Given the description of an element on the screen output the (x, y) to click on. 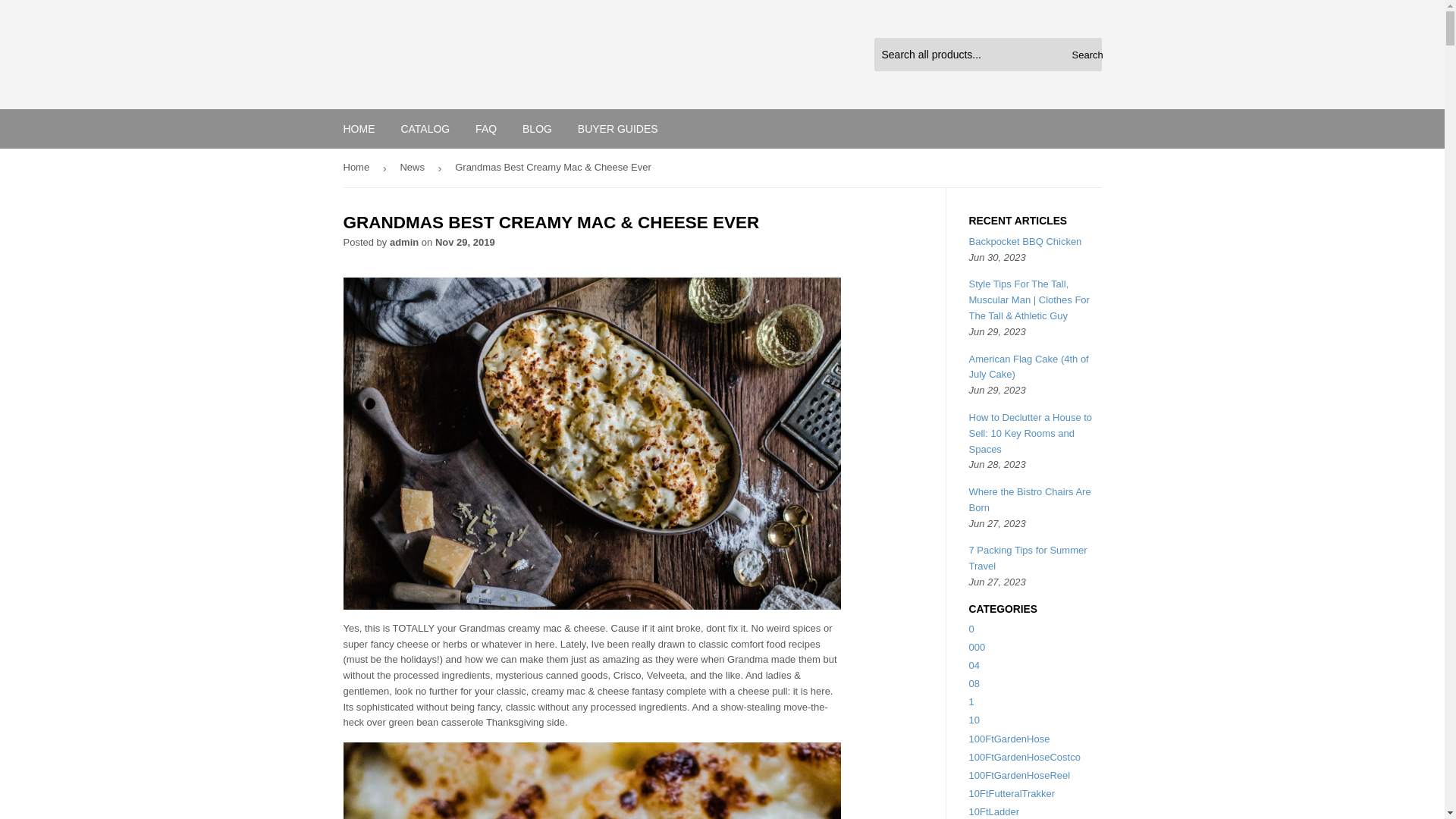
100FtGardenHoseCostco (1024, 756)
BLOG (537, 128)
How to Declutter a House to Sell: 10 Key Rooms and Spaces (1031, 433)
7 Packing Tips for Summer Travel (1028, 557)
Show articles tagged 08 (974, 683)
Show articles tagged 000 (977, 646)
000 (977, 646)
10FtLadder (994, 811)
Search (1084, 55)
100FtGardenHoseReel (1019, 775)
